Given the description of an element on the screen output the (x, y) to click on. 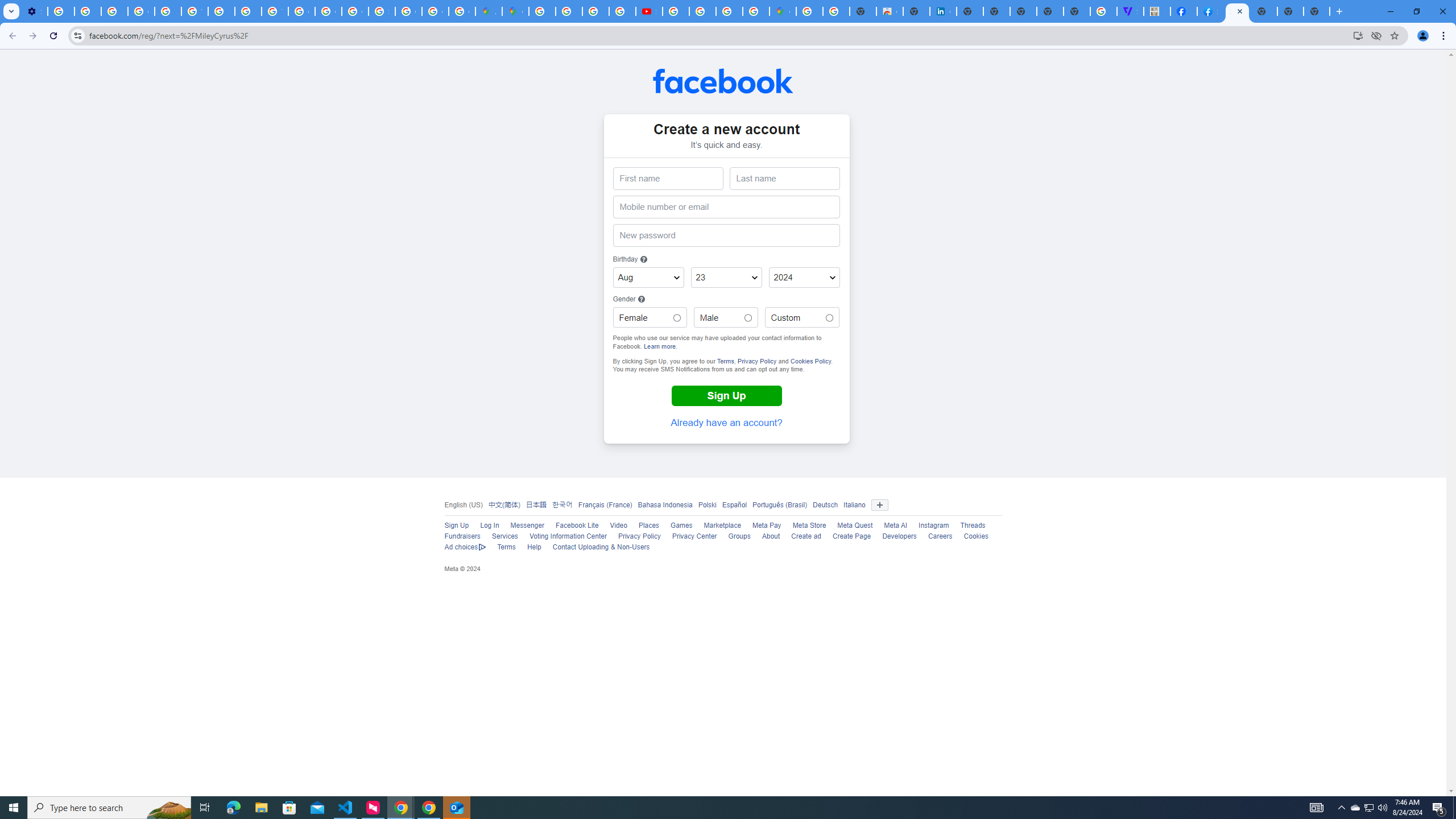
Reload (52, 35)
Month (648, 277)
Meta Pay (766, 525)
Facebook Lite (576, 525)
Cookie Policy | LinkedIn (943, 11)
Messenger (526, 525)
Groups (739, 536)
Miley Cyrus | Facebook (1183, 11)
Ad choices (465, 547)
Female (676, 317)
New Tab (1338, 11)
New Tab (1263, 11)
Deutsch (825, 504)
